Given the description of an element on the screen output the (x, y) to click on. 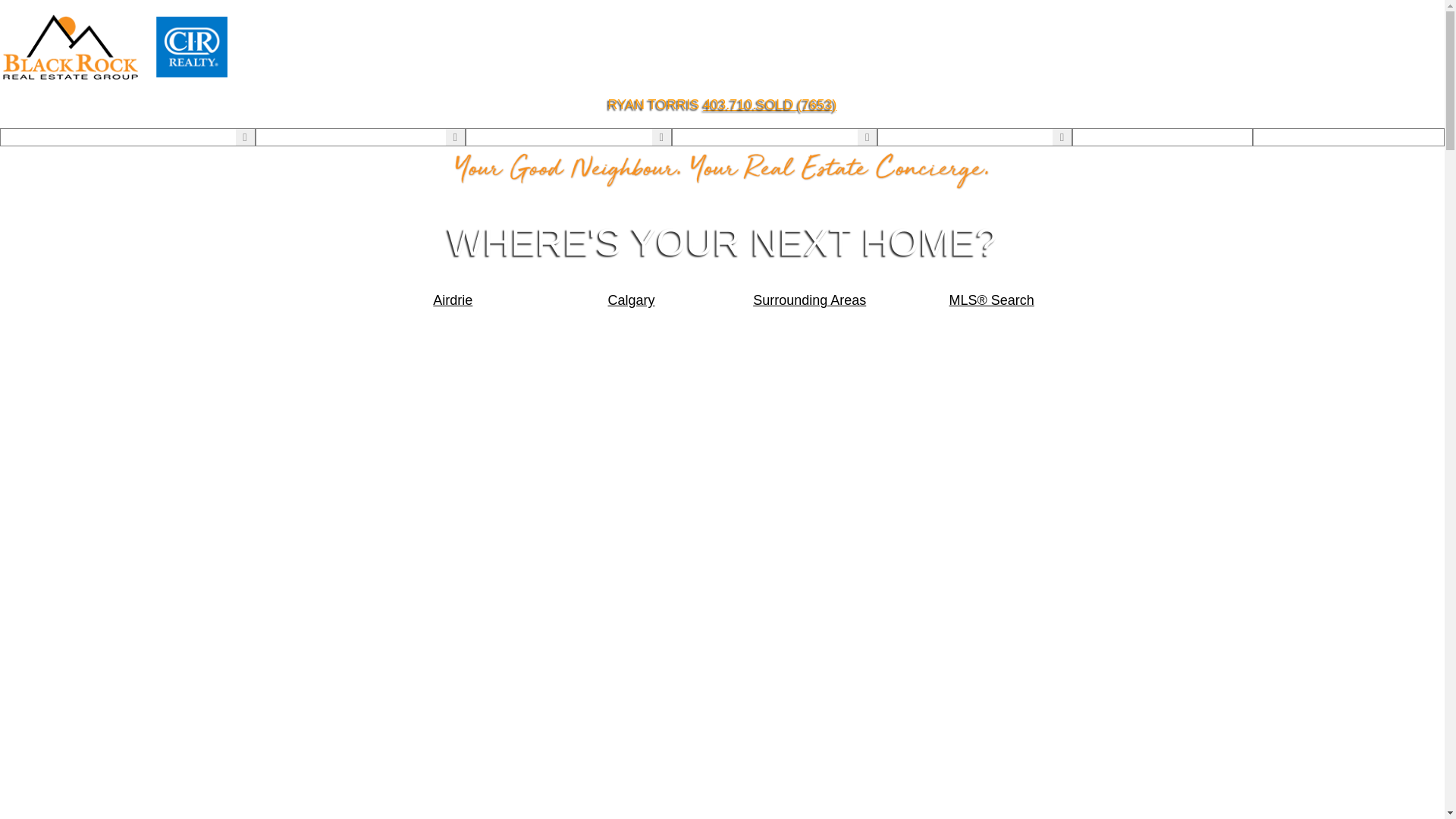
Surrounding Areas Element type: text (809, 300)
About Concierge Element type: text (46, 137)
Buying Element type: text (487, 137)
Contact Element type: text (1348, 137)
Calgary Element type: text (631, 300)
Listings Element type: text (279, 137)
Blog Element type: text (893, 137)
403.710.SOLD (7653) Element type: text (769, 104)
Airdrie Element type: text (453, 300)
Login Element type: text (1162, 137)
Selling Element type: text (693, 137)
